Given the description of an element on the screen output the (x, y) to click on. 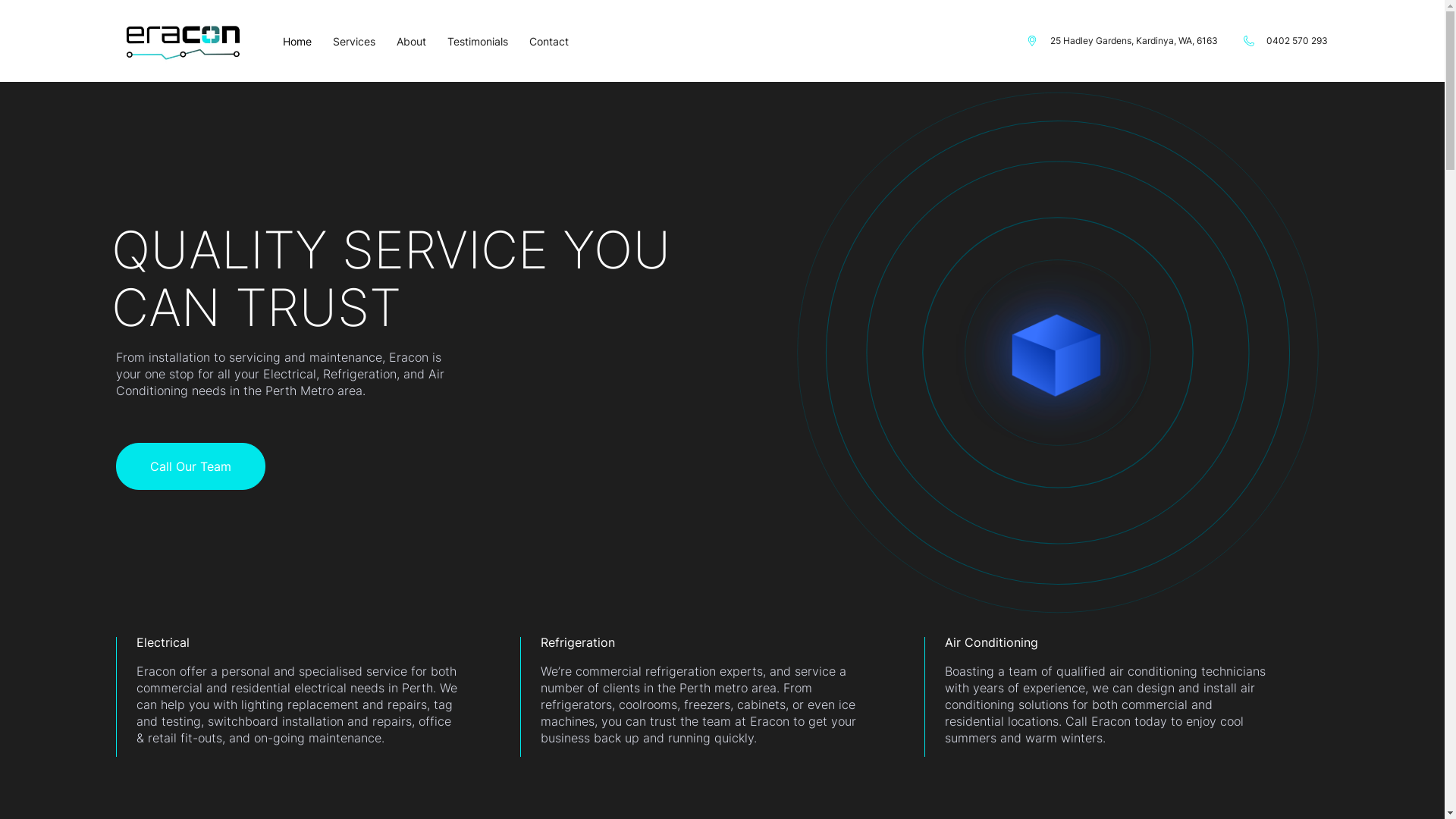
0402 570 293 Element type: text (1285, 40)
Testimonials Element type: text (477, 40)
Call Our Team Element type: text (189, 465)
Home Element type: text (296, 40)
About Element type: text (411, 40)
Contact Element type: text (548, 40)
Services Element type: text (353, 40)
